Given the description of an element on the screen output the (x, y) to click on. 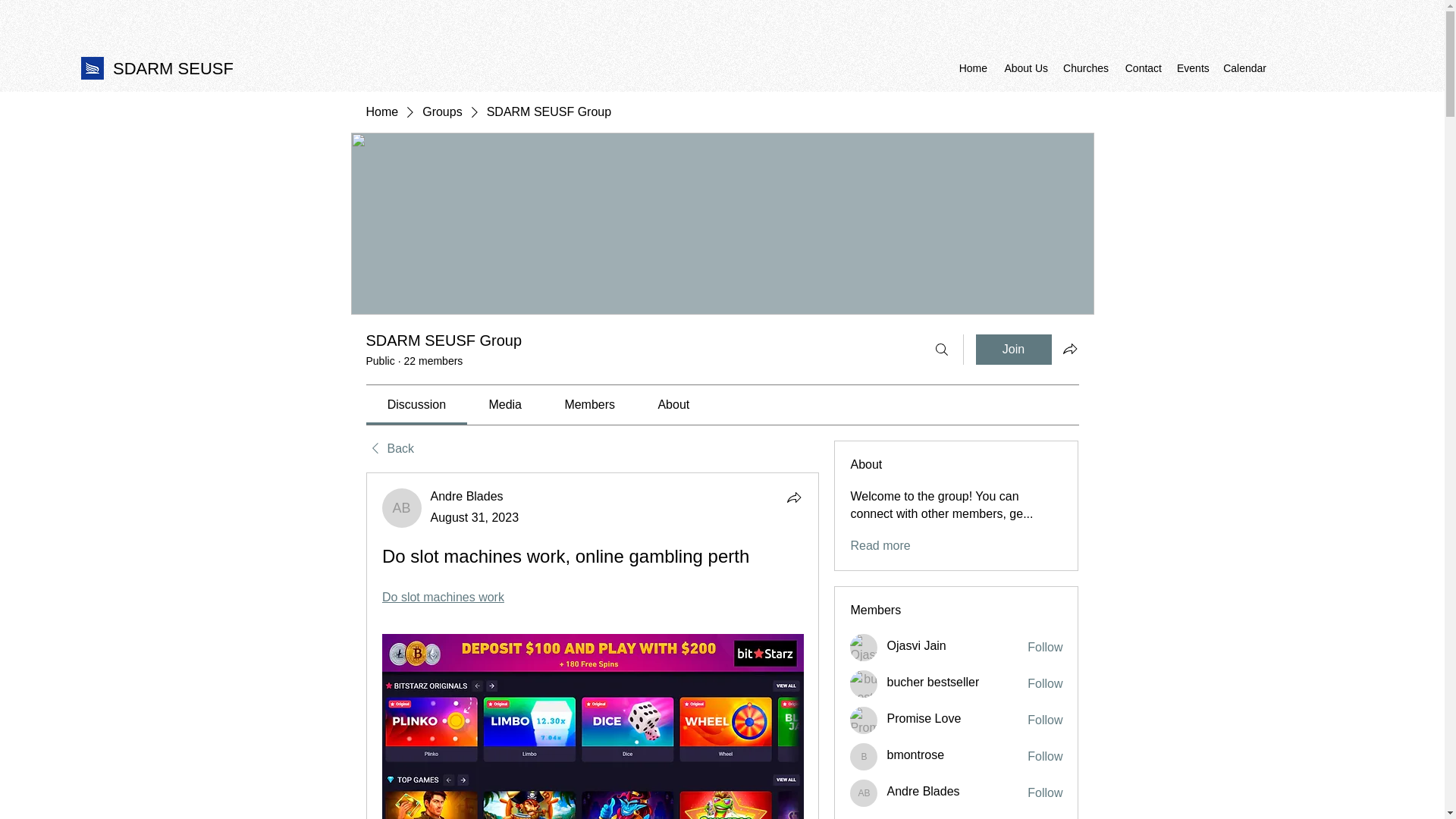
Back (389, 448)
bucher bestseller (863, 683)
Home (381, 112)
Andre Blades (401, 507)
Promise Love (863, 719)
bmontrose (863, 756)
Home (972, 67)
Andre Blades (922, 791)
Groups (441, 112)
Promise Love (923, 718)
